Given the description of an element on the screen output the (x, y) to click on. 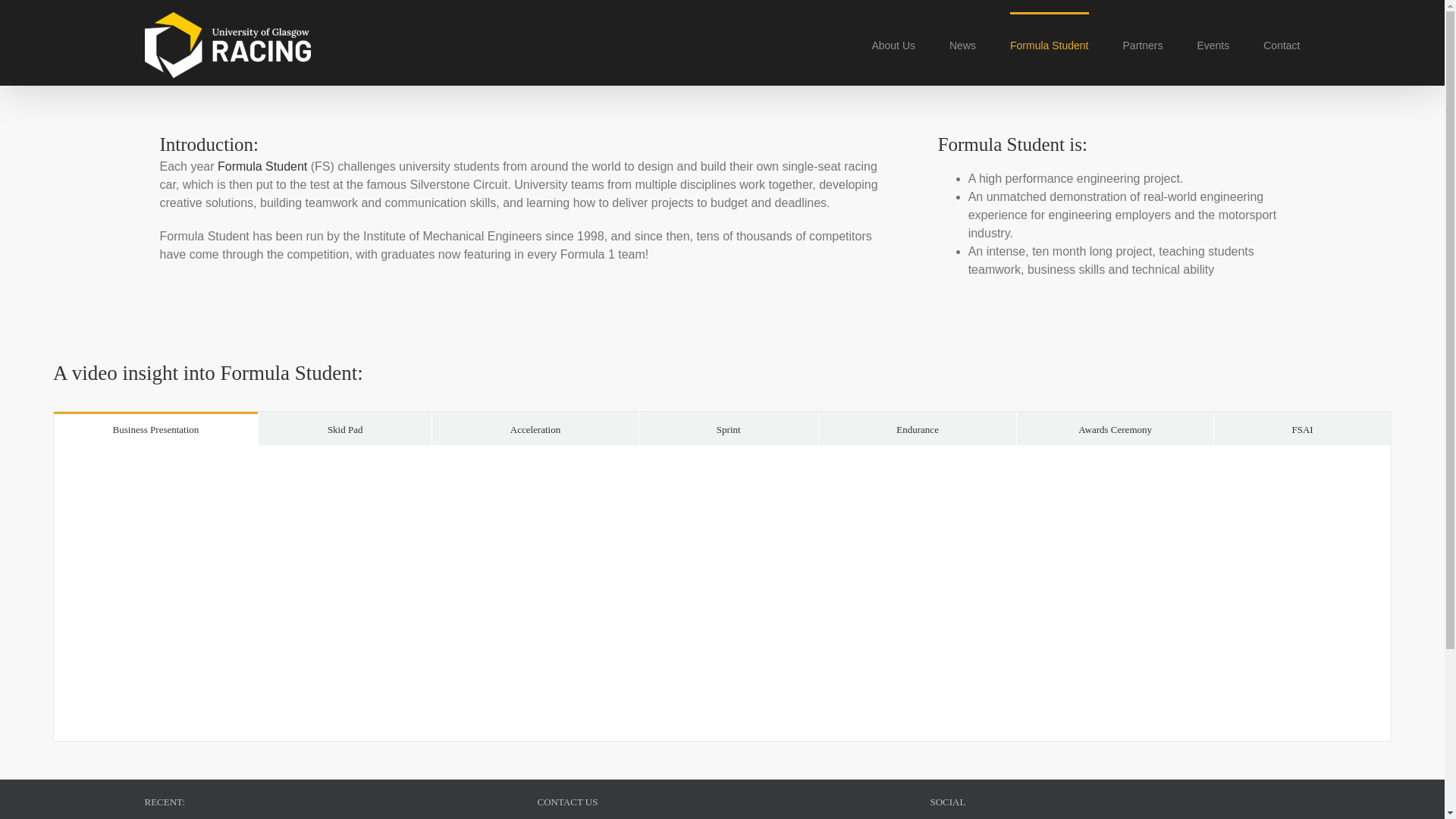
Formula Student (261, 165)
YouTube video player 1 (722, 592)
Sprint (728, 428)
Formula Student (1049, 44)
Business Presentation (155, 428)
Endurance (917, 428)
Skid Pad (345, 428)
Awards Ceremony (1114, 428)
Acceleration (534, 428)
FSAI (1302, 428)
